Given the description of an element on the screen output the (x, y) to click on. 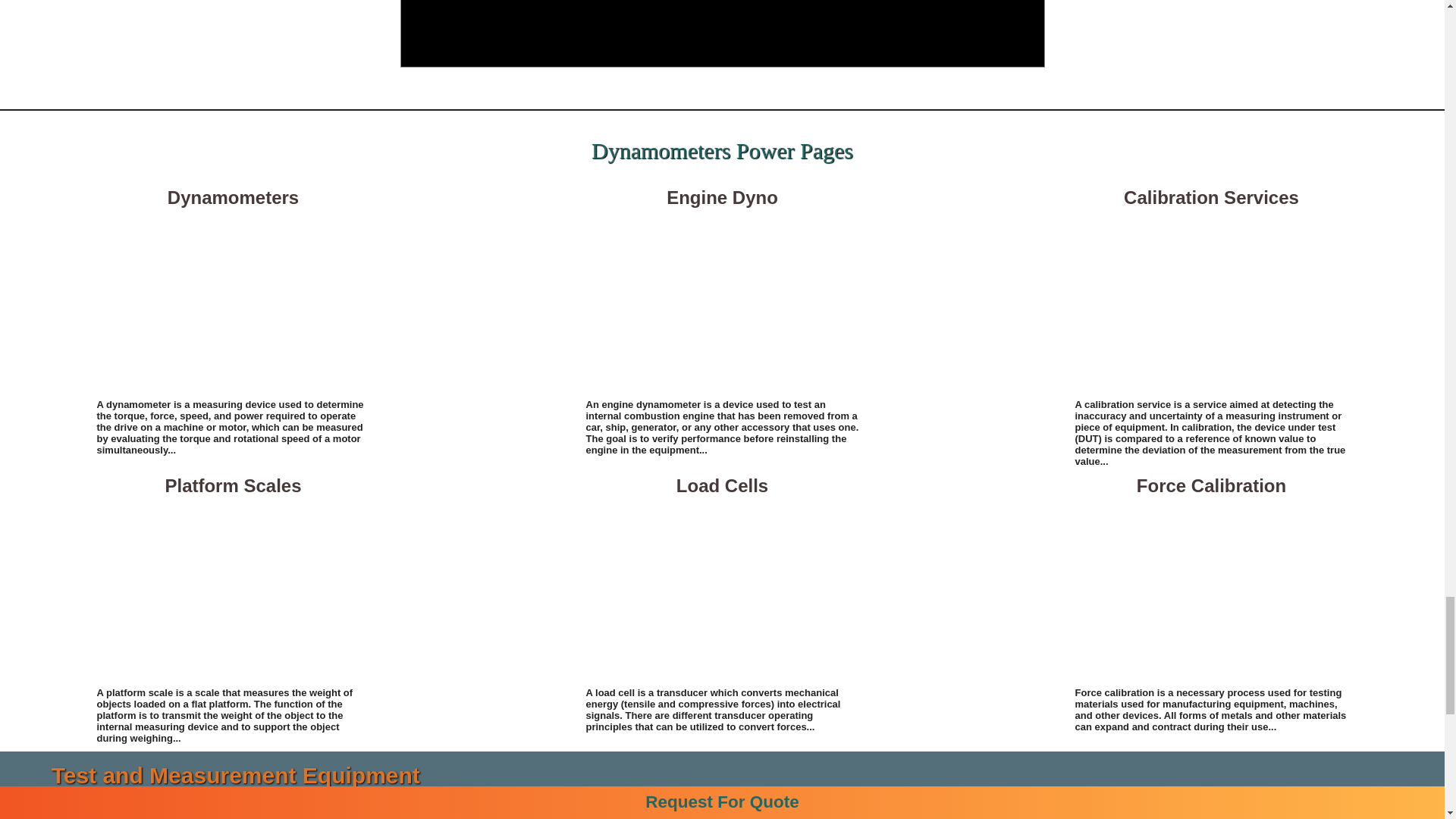
Dynamometers (233, 302)
Calibration Services (1211, 302)
Engine Dyno (722, 302)
